Given the description of an element on the screen output the (x, y) to click on. 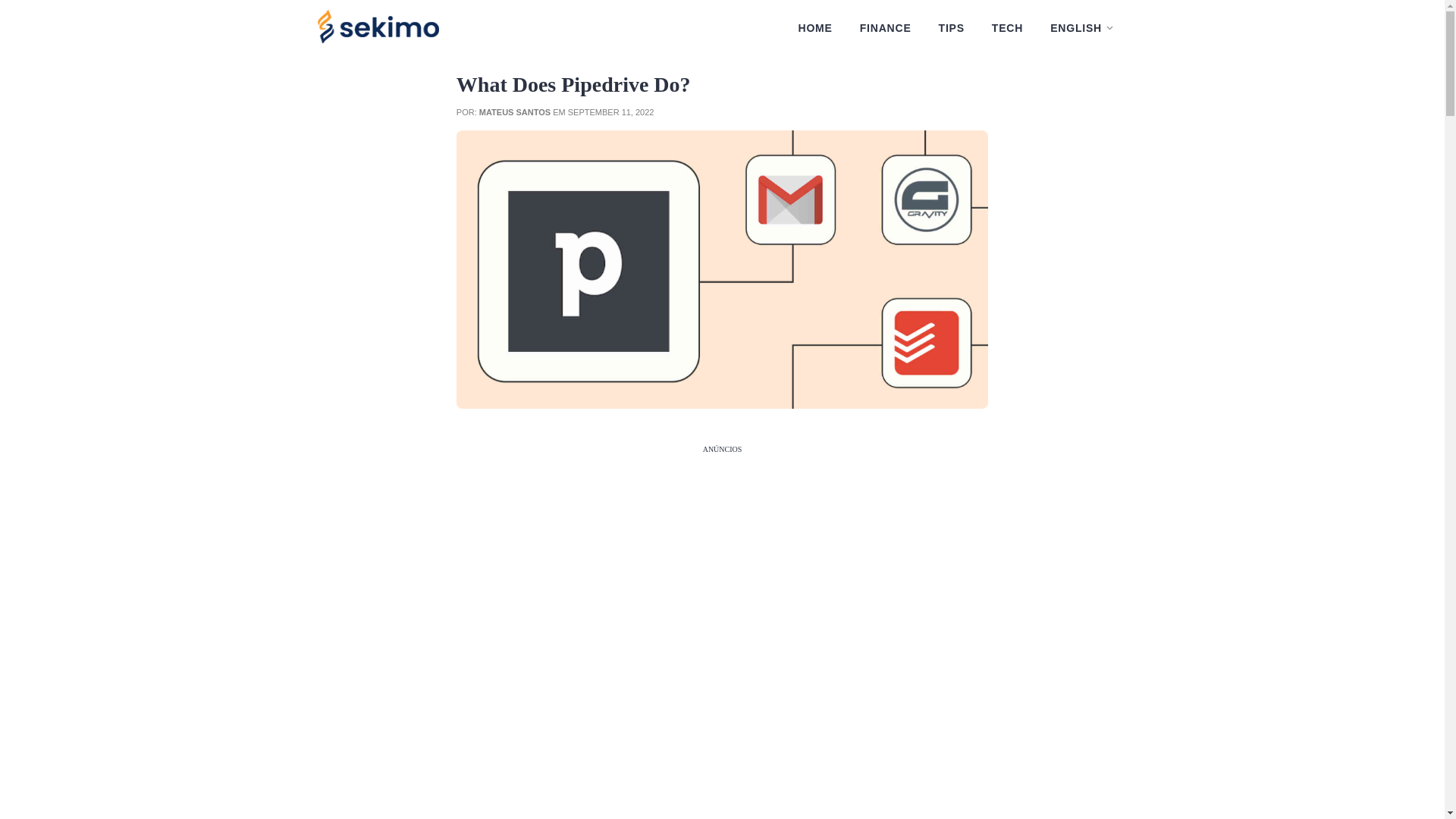
TECH (1007, 27)
FINANCE (885, 27)
HOME (815, 27)
ENGLISH (1081, 27)
TIPS (952, 27)
